Given the description of an element on the screen output the (x, y) to click on. 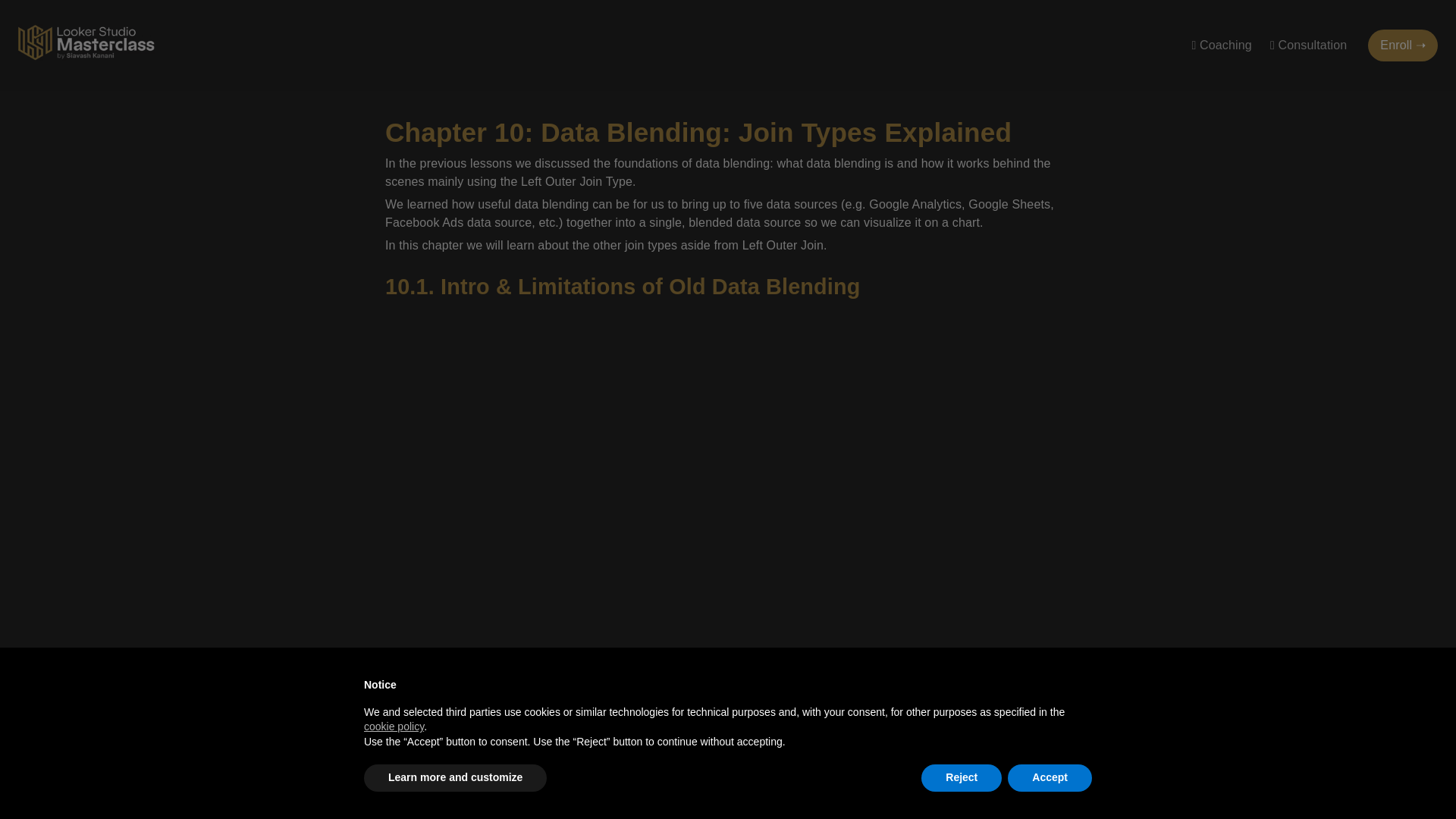
Reject (961, 777)
Learn more and customize (455, 777)
cookie policy (393, 726)
Accept (1049, 777)
